Given the description of an element on the screen output the (x, y) to click on. 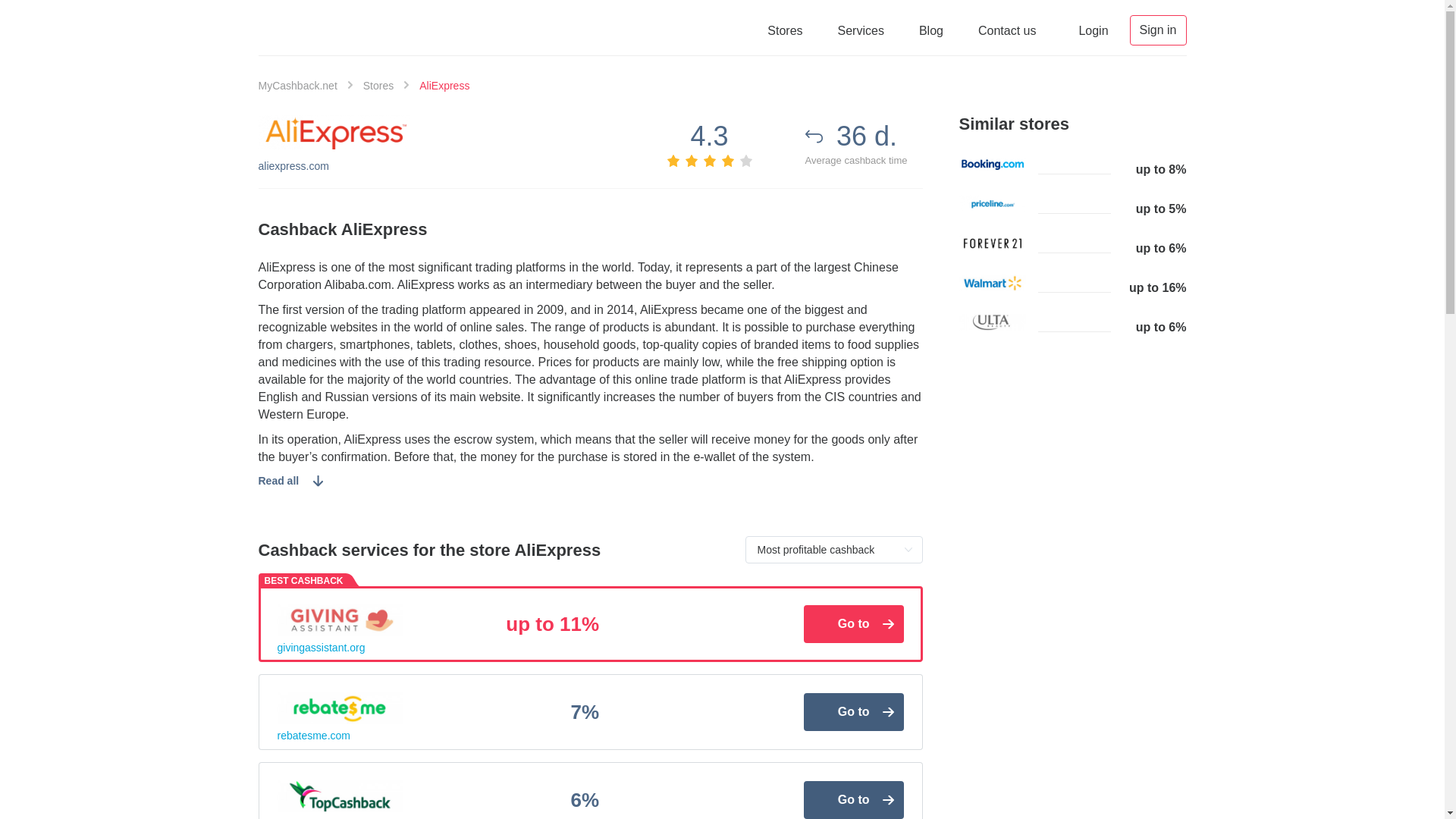
Stores (784, 30)
rebatesme.com (314, 735)
givingassistant.org (321, 647)
Services (860, 30)
Contact us (1006, 30)
Go to (853, 623)
Go to (853, 800)
MyCashback.net (296, 85)
Stores (377, 85)
Read all (290, 480)
